Given the description of an element on the screen output the (x, y) to click on. 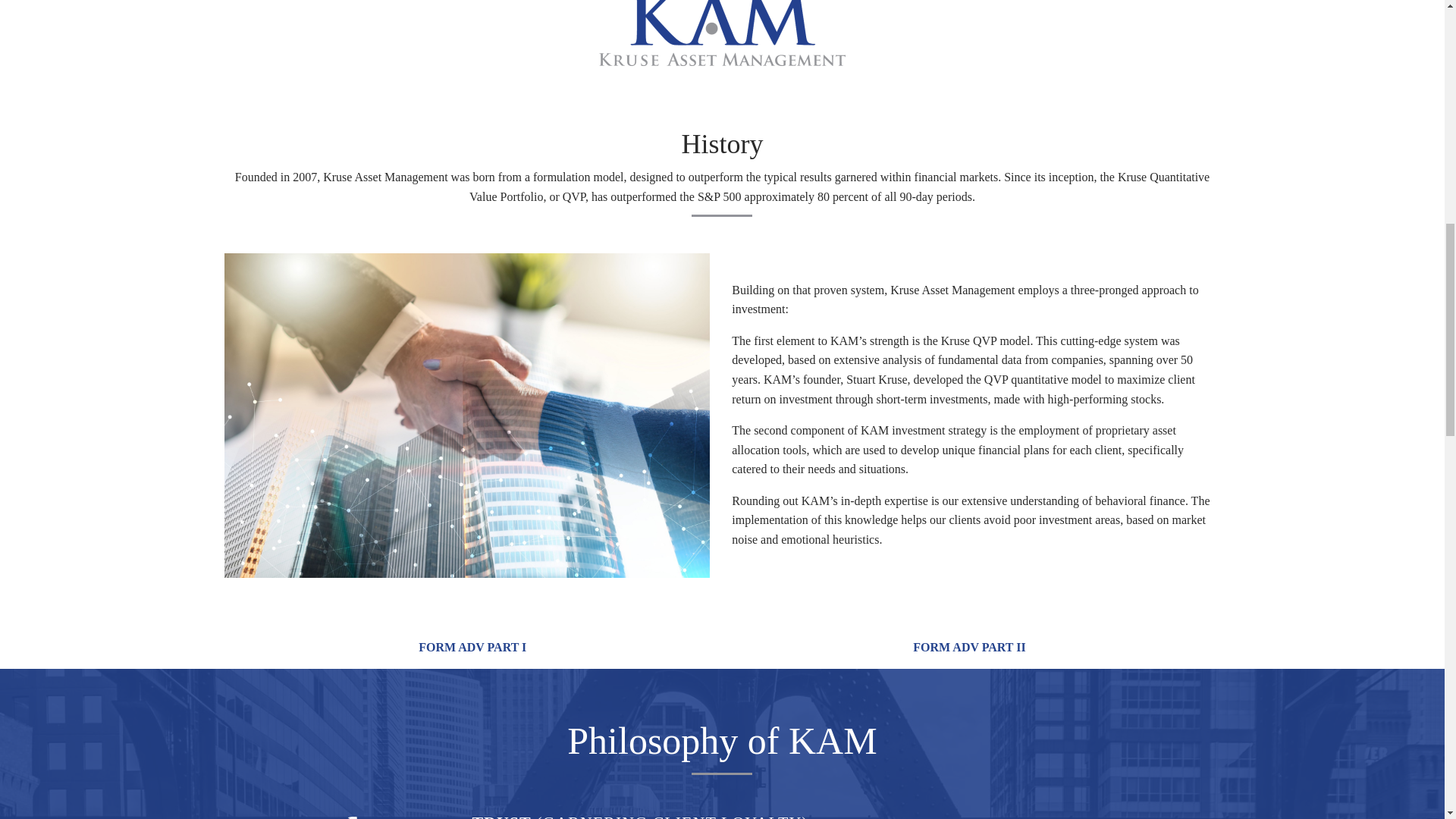
FORM ADV PART II (968, 648)
FORM ADV PART I (472, 648)
